Given the description of an element on the screen output the (x, y) to click on. 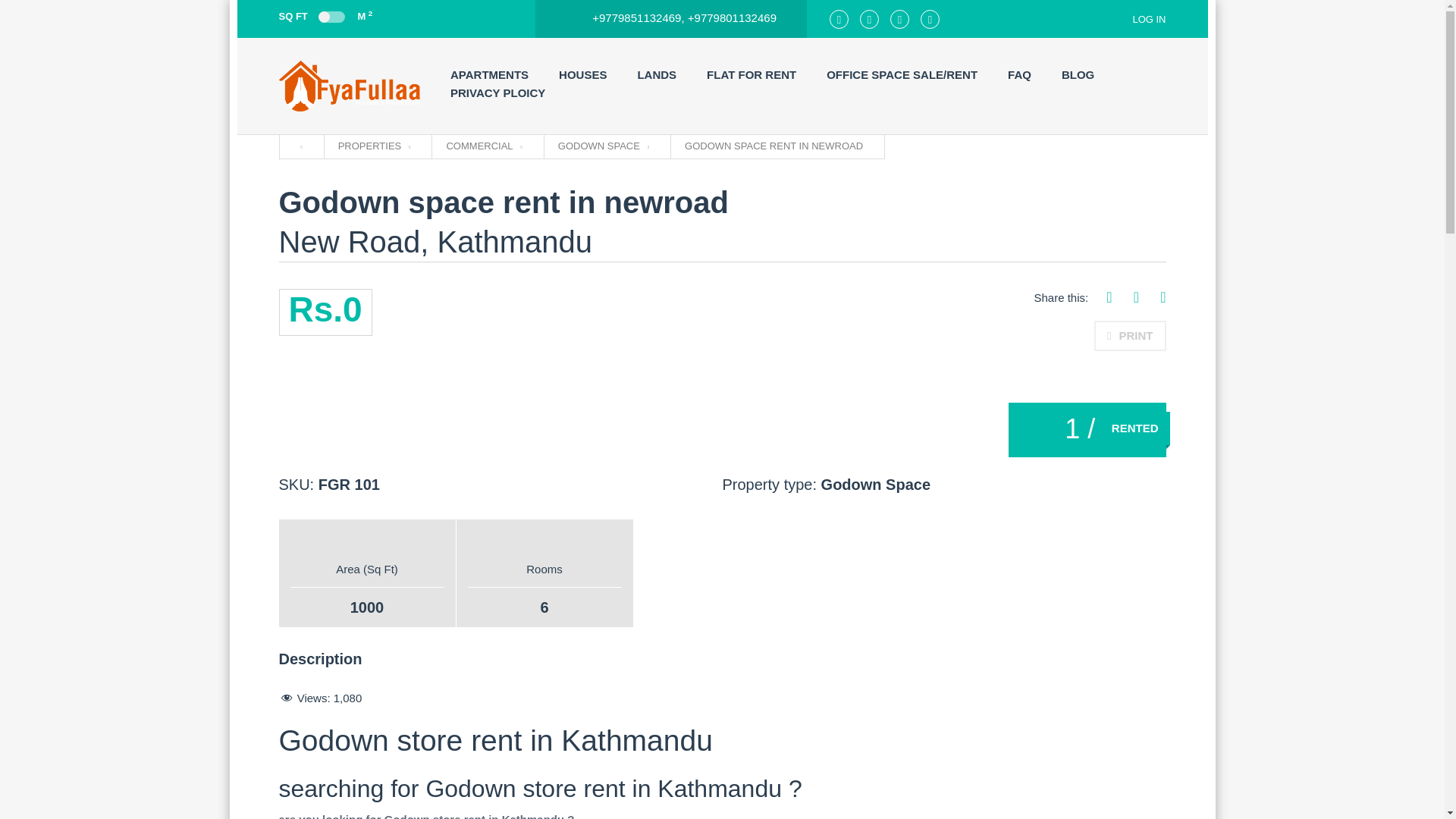
GODOWN SPACE (603, 146)
HOUSES (583, 75)
LANDS (657, 75)
Go to the Godown Space Property Type archives. (603, 146)
BLOG (1077, 75)
APARTMENTS (488, 75)
Go to the Commercial Property Type archives. (483, 146)
Go to Properties. (373, 146)
PRIVACY PLOICY (496, 93)
COMMERCIAL (483, 146)
